Given the description of an element on the screen output the (x, y) to click on. 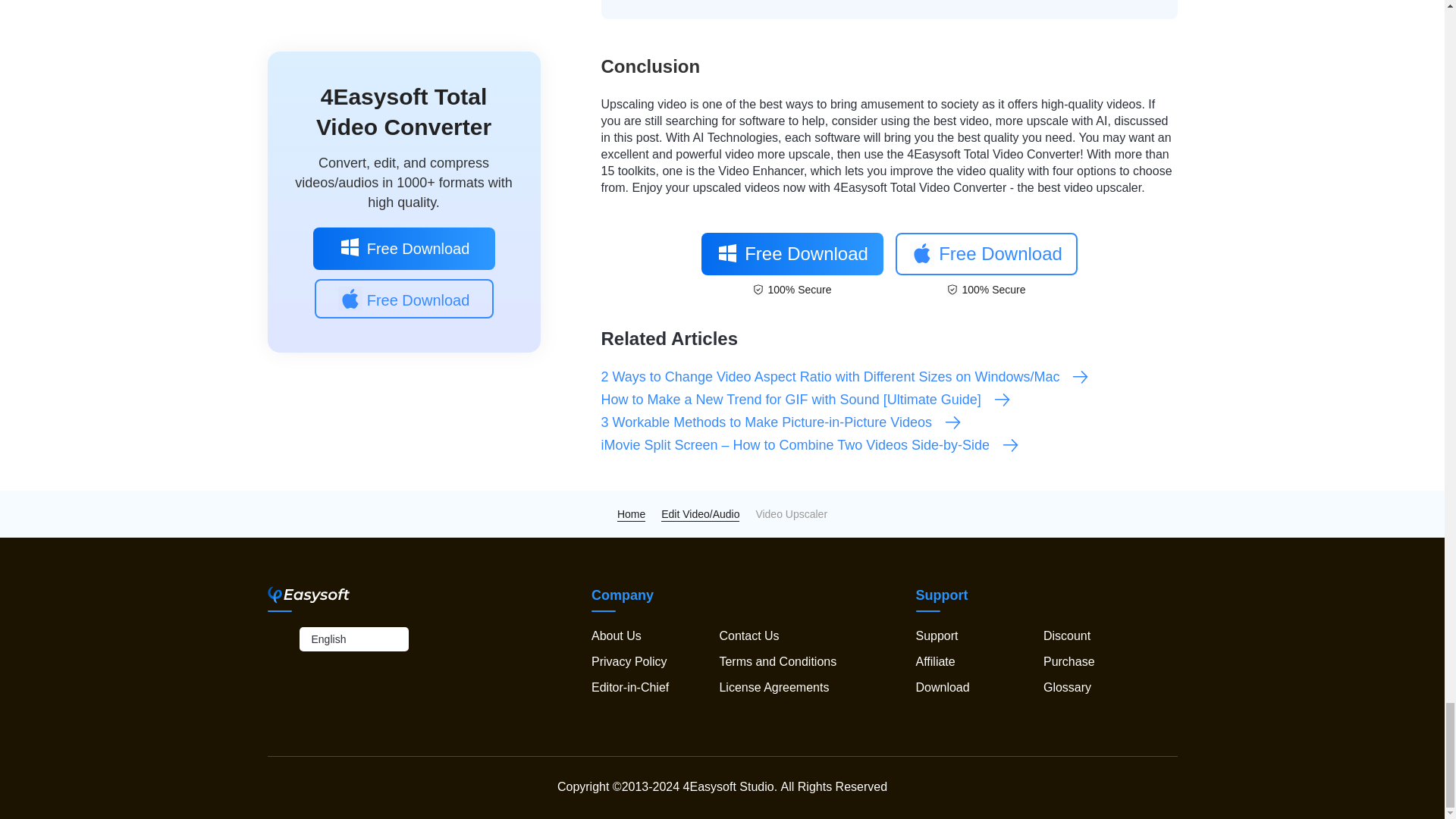
Free Download (986, 253)
Free Download (791, 253)
Home (631, 513)
3 Workable Methods to Make Picture-in-Picture Videos (780, 422)
